Given the description of an element on the screen output the (x, y) to click on. 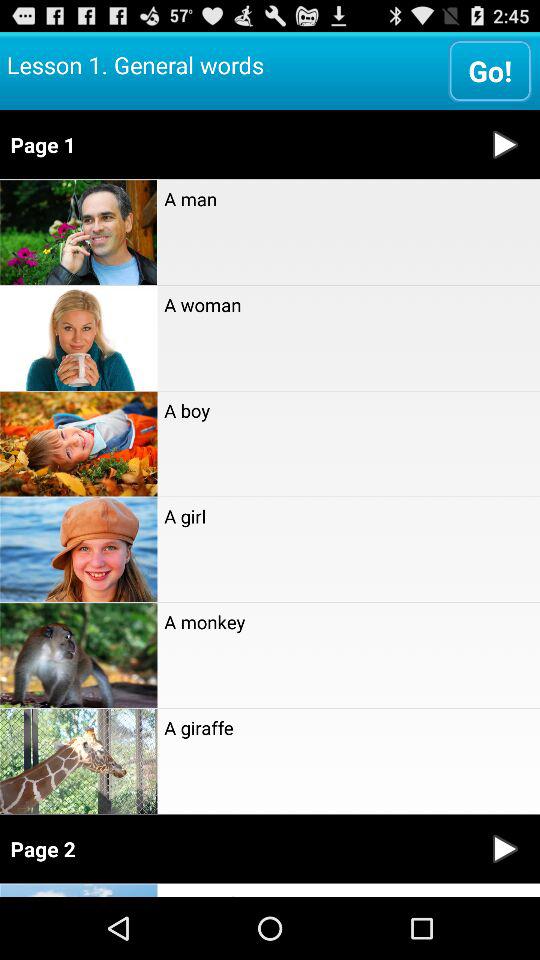
next page (505, 848)
